Given the description of an element on the screen output the (x, y) to click on. 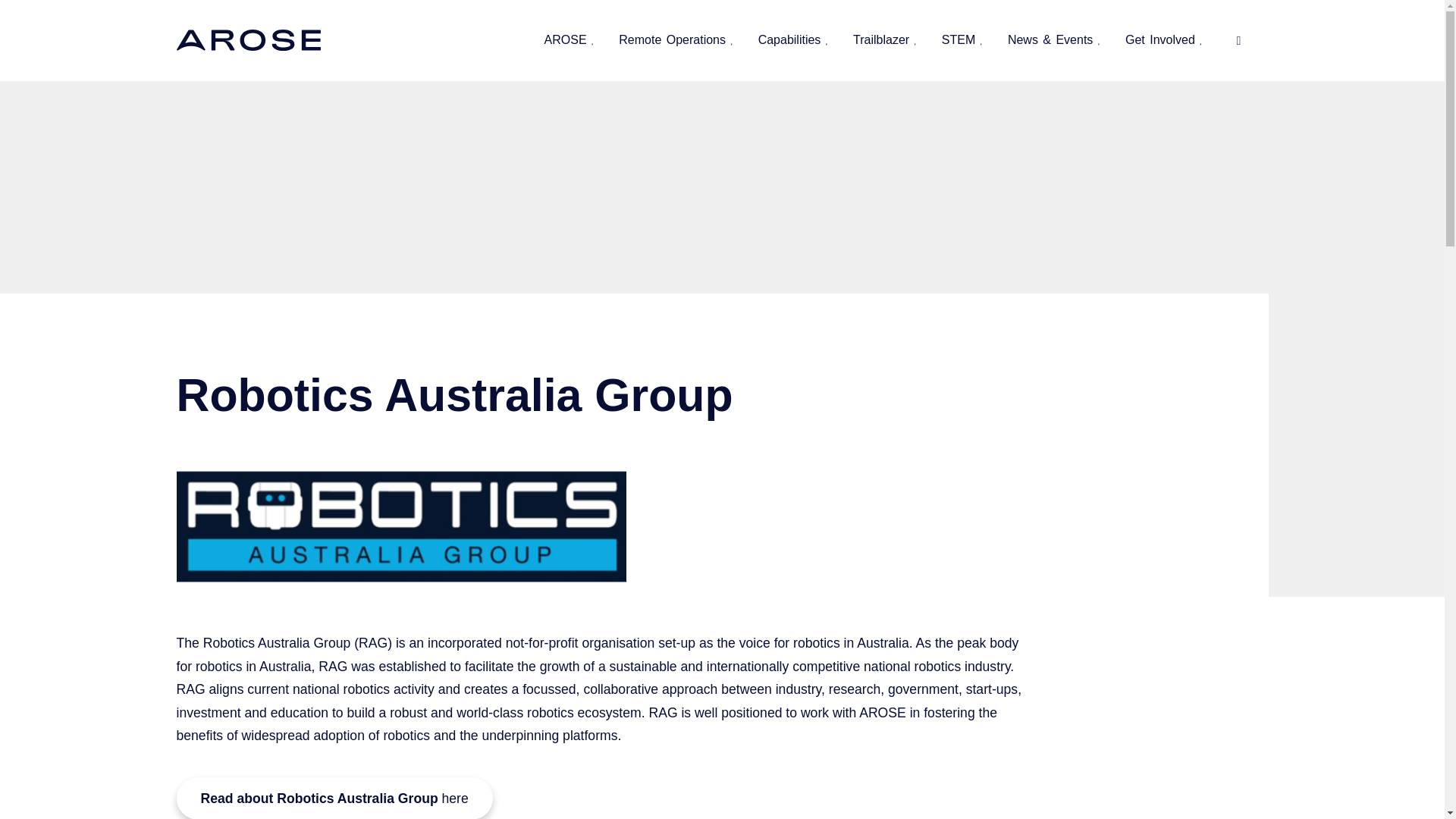
AROSE (565, 39)
Capabilities (789, 39)
Remote Operations (671, 39)
Trailblazer (880, 39)
Get Involved (1160, 39)
Search (1238, 40)
STEM (958, 39)
